Given the description of an element on the screen output the (x, y) to click on. 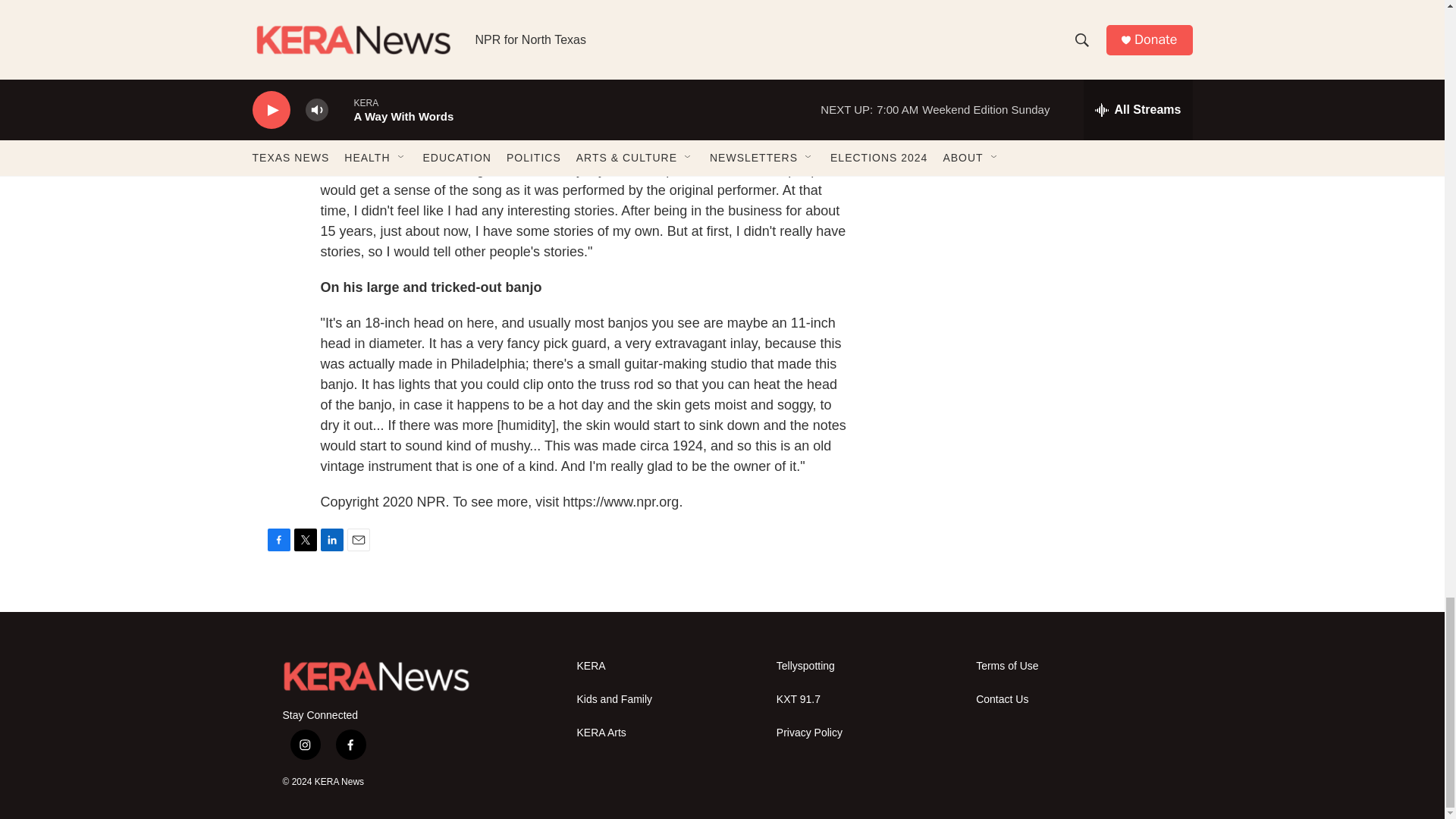
Dom Flemons - Ain't it a Good Thing (585, 33)
